Given the description of an element on the screen output the (x, y) to click on. 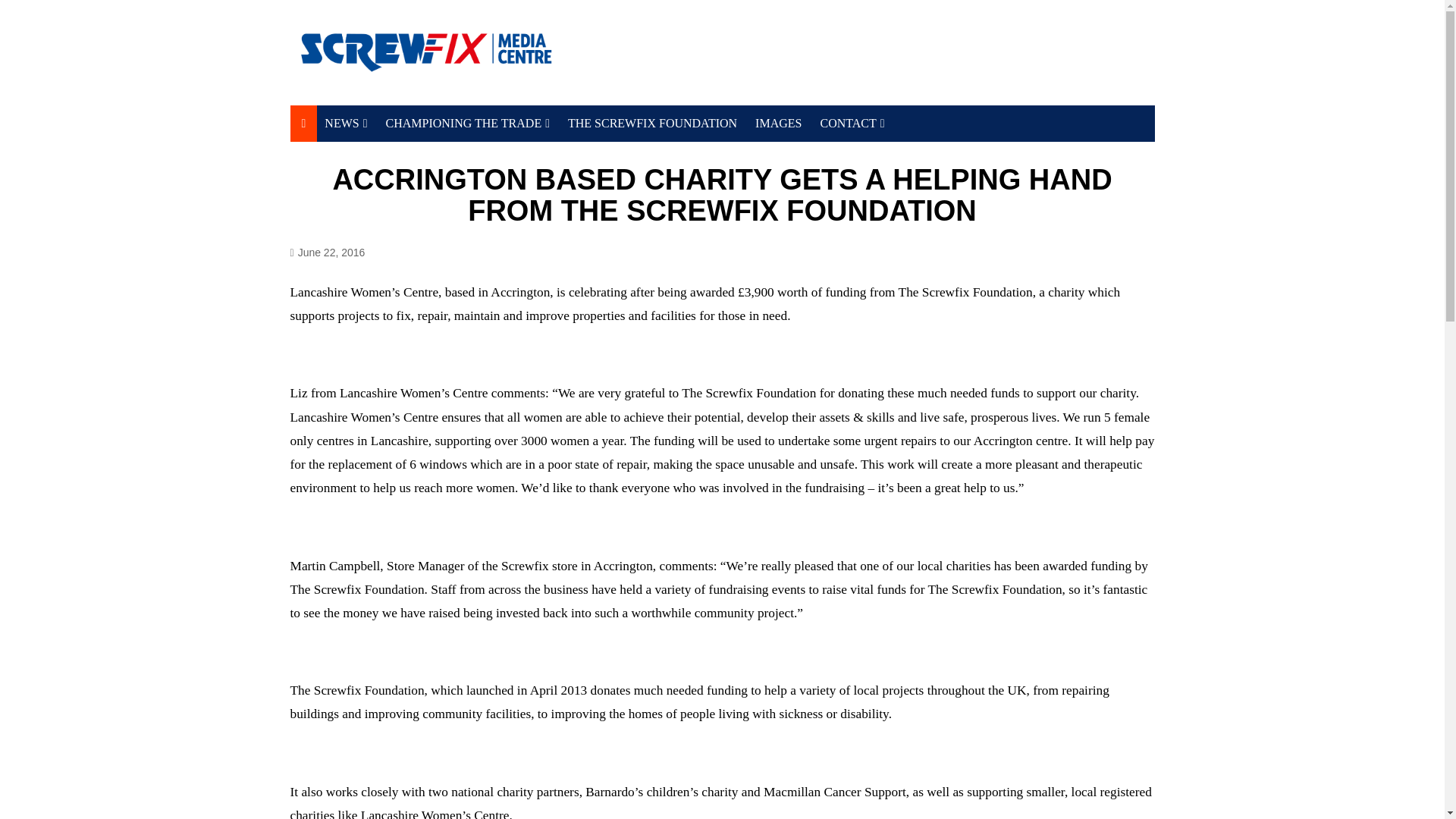
CONTACT (851, 123)
SCREWFIX LIVE (400, 179)
SCREWFIX EUROPE (895, 154)
CHAMPIONING THE TRADE (467, 123)
THE SCREWFIX FOUNDATION (652, 123)
SUSTAINABILITY (400, 154)
IMAGES (778, 123)
SCREWFIX TOP TRADESPERSON (461, 160)
NEWS (345, 123)
IRELAND (400, 204)
June 22, 2016 (327, 252)
TRADE APPRENTICE (461, 191)
